Given the description of an element on the screen output the (x, y) to click on. 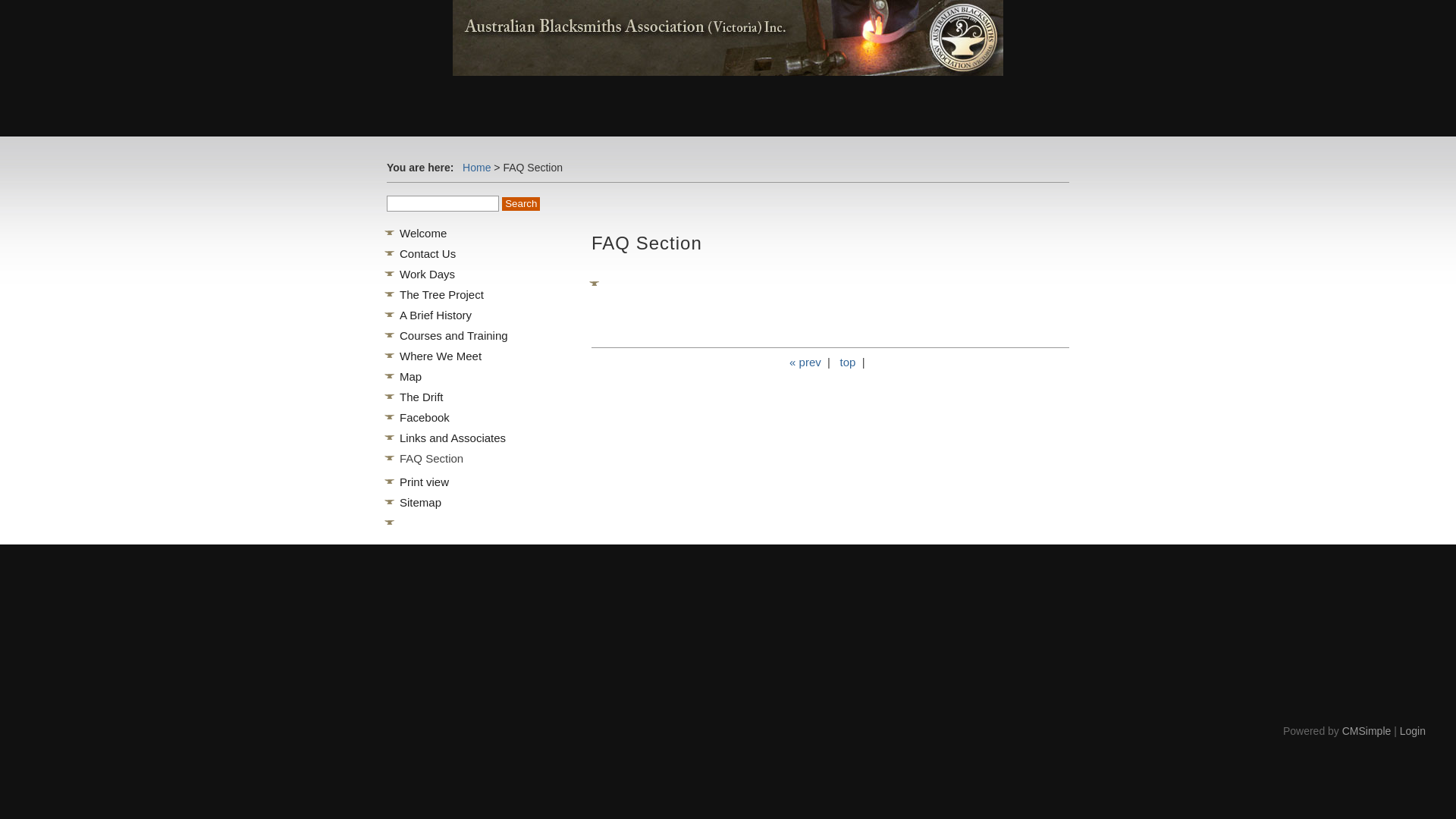
CMSimple Element type: text (1366, 730)
Print view Element type: text (423, 481)
Map Element type: text (410, 376)
Courses and Training Element type: text (453, 335)
Login Element type: text (1412, 730)
Work Days Element type: text (427, 273)
Welcome Element type: text (422, 232)
Home Element type: text (476, 167)
A Brief History Element type: text (435, 314)
Contact Us Element type: text (427, 253)
Sitemap Element type: text (420, 501)
Search Element type: text (520, 203)
Facebook Element type: text (424, 417)
Where We Meet Element type: text (440, 355)
The Drift Element type: text (421, 396)
Links and Associates Element type: text (452, 437)
top Element type: text (848, 361)
The Tree Project Element type: text (441, 294)
